Given the description of an element on the screen output the (x, y) to click on. 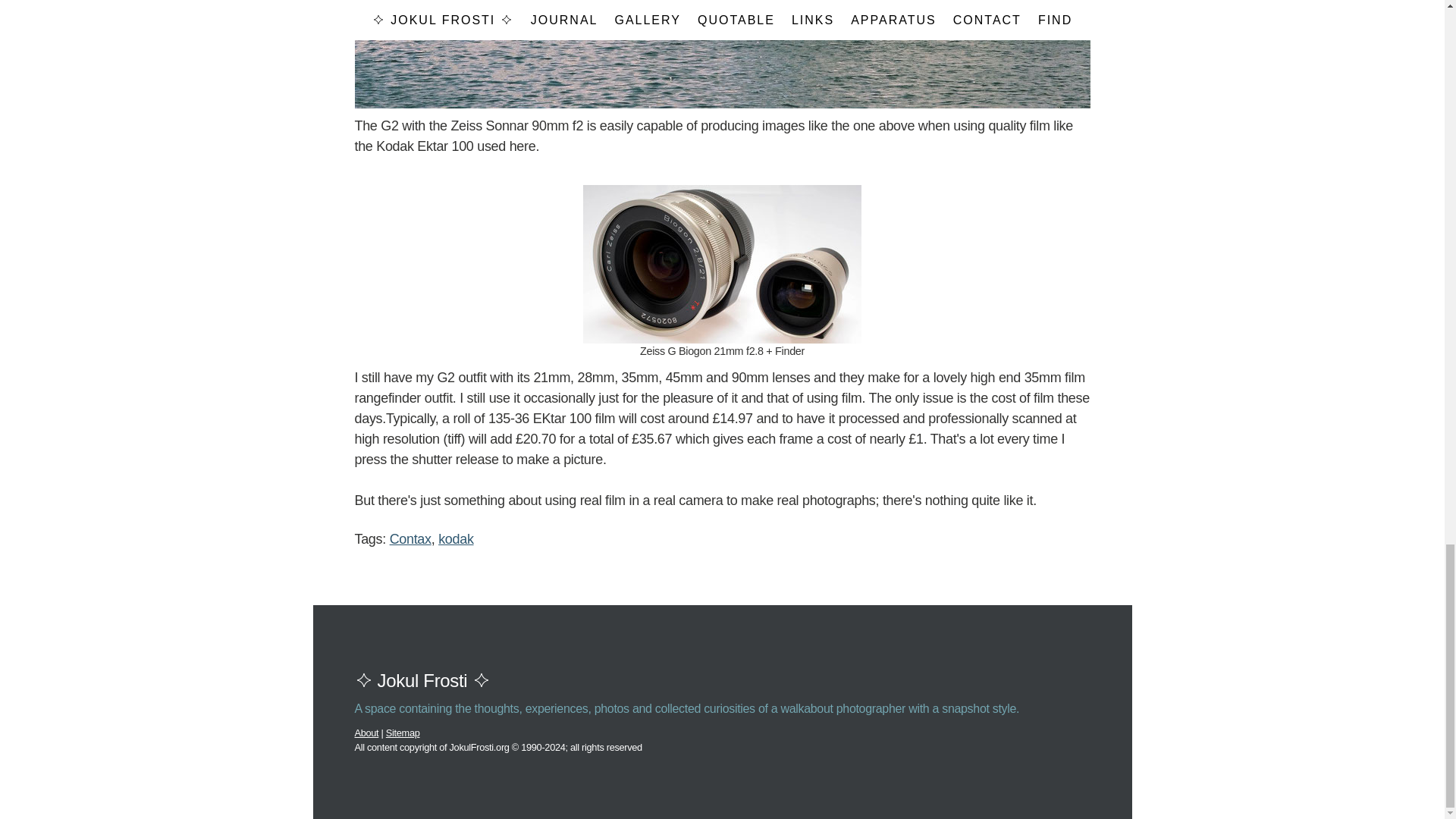
Contax (410, 539)
kodak (455, 539)
Sitemap (402, 732)
About (366, 732)
